Given the description of an element on the screen output the (x, y) to click on. 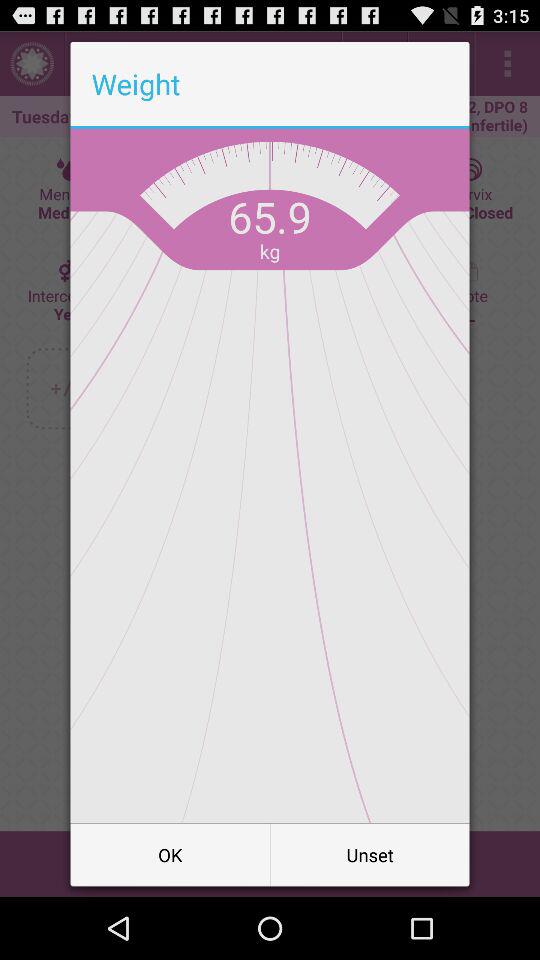
scroll until the ok icon (170, 854)
